Given the description of an element on the screen output the (x, y) to click on. 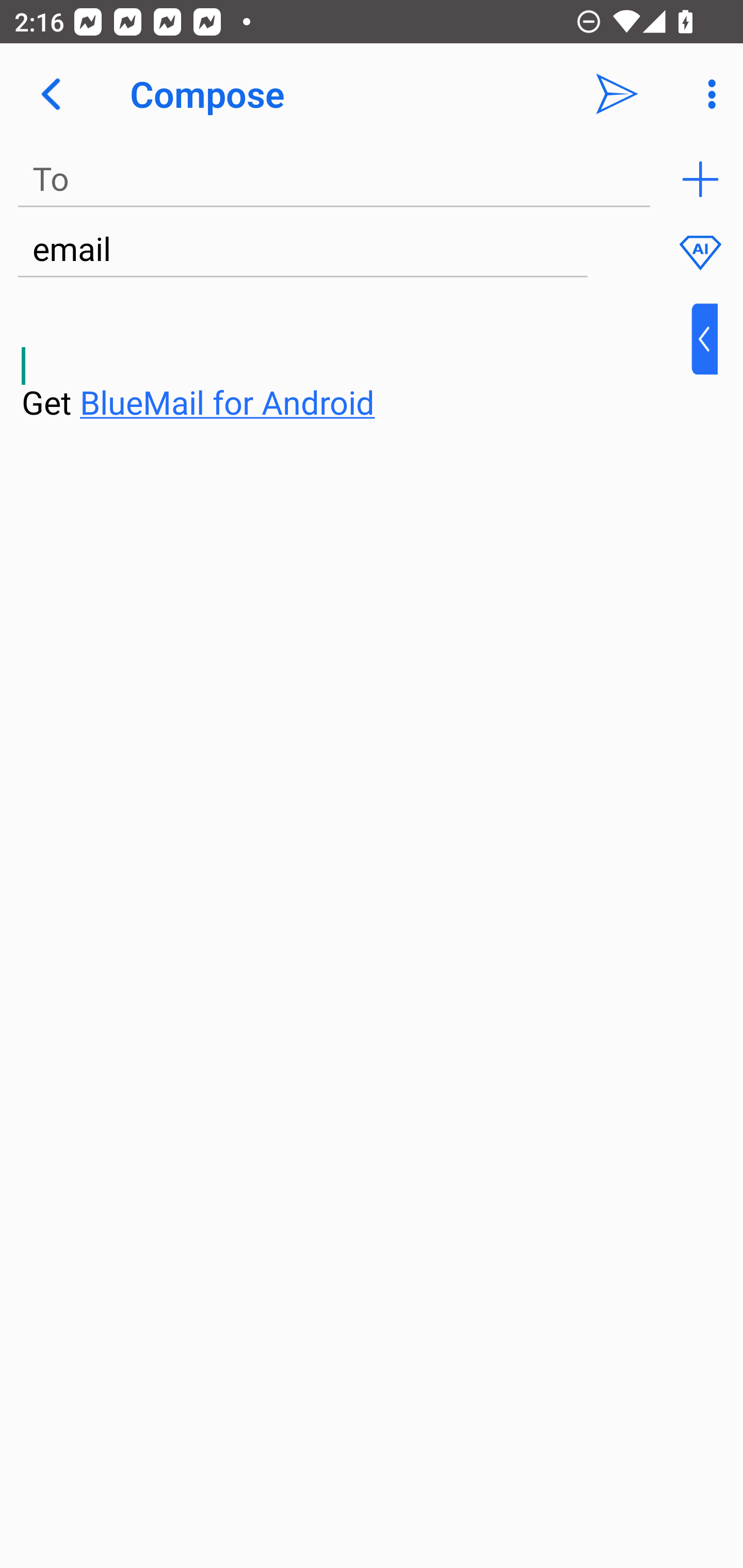
Navigate up (50, 93)
Send (616, 93)
More Options (706, 93)
To (334, 179)
Add recipient (To) (699, 179)
email (302, 249)


⁣Get BlueMail for Android ​ (355, 363)
